Given the description of an element on the screen output the (x, y) to click on. 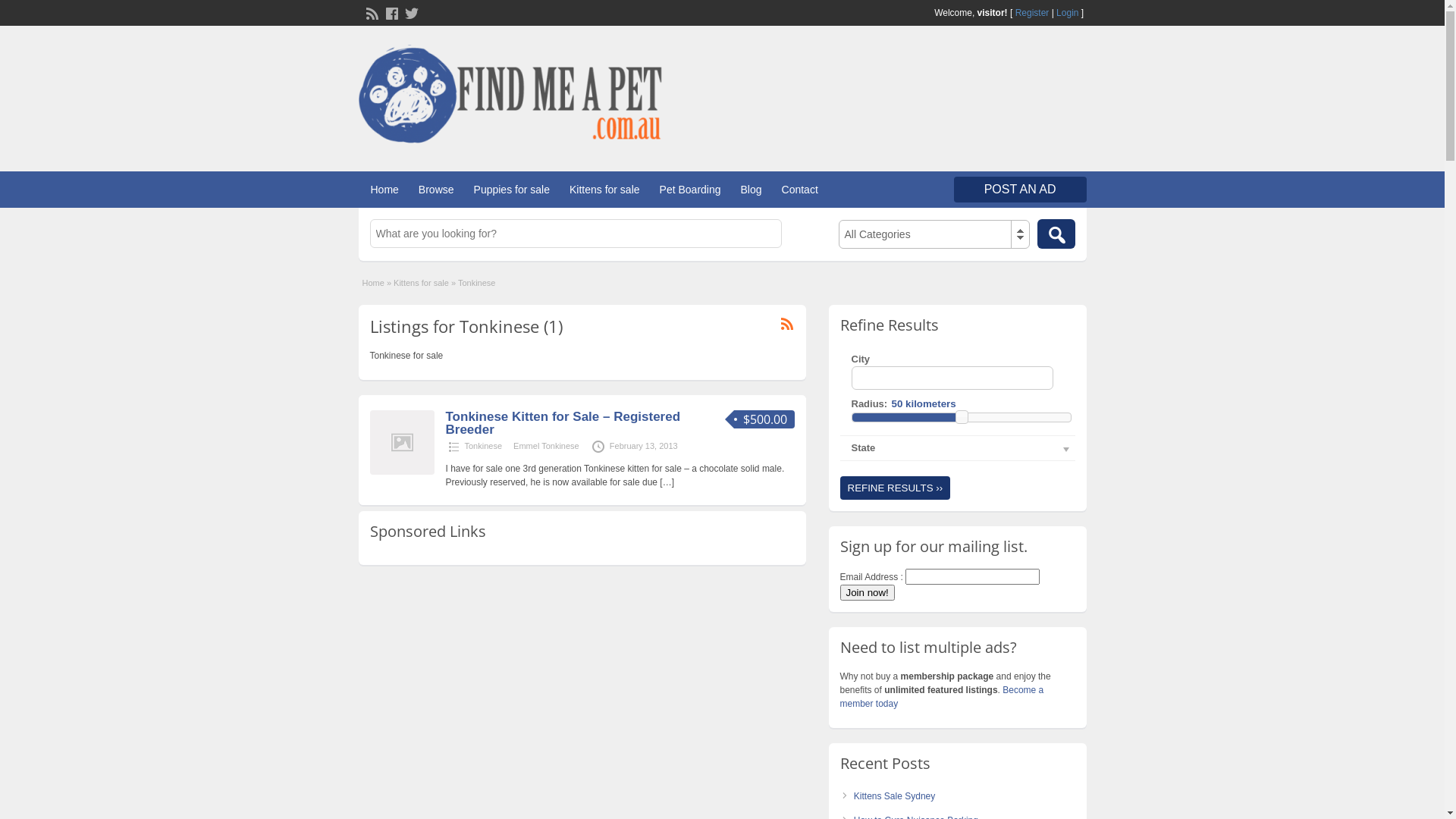
RSS Feed Element type: hover (370, 12)
Emmel Tonkinese Element type: text (546, 445)
Browse Element type: text (436, 189)
All Categories Element type: text (933, 233)
Tonkinese Element type: text (483, 445)
Login Element type: text (1067, 12)
Join now! Element type: text (867, 592)
Kittens for sale Element type: text (604, 189)
Contact Element type: text (799, 189)
Twitter Element type: hover (409, 12)
Home Element type: text (383, 189)
Register Element type: text (1032, 12)
Kittens for sale Element type: text (420, 282)
Puppies for sale Element type: text (511, 189)
search Element type: text (1056, 233)
Kittens Sale Sydney Element type: text (894, 795)
Pet Boarding Element type: text (690, 189)
Search Ads Element type: hover (1056, 233)
Blog Element type: text (751, 189)
Become a member today Element type: text (942, 696)
Home Element type: text (373, 282)
Facebook Element type: hover (389, 12)
POST AN AD Element type: text (1019, 189)
